Given the description of an element on the screen output the (x, y) to click on. 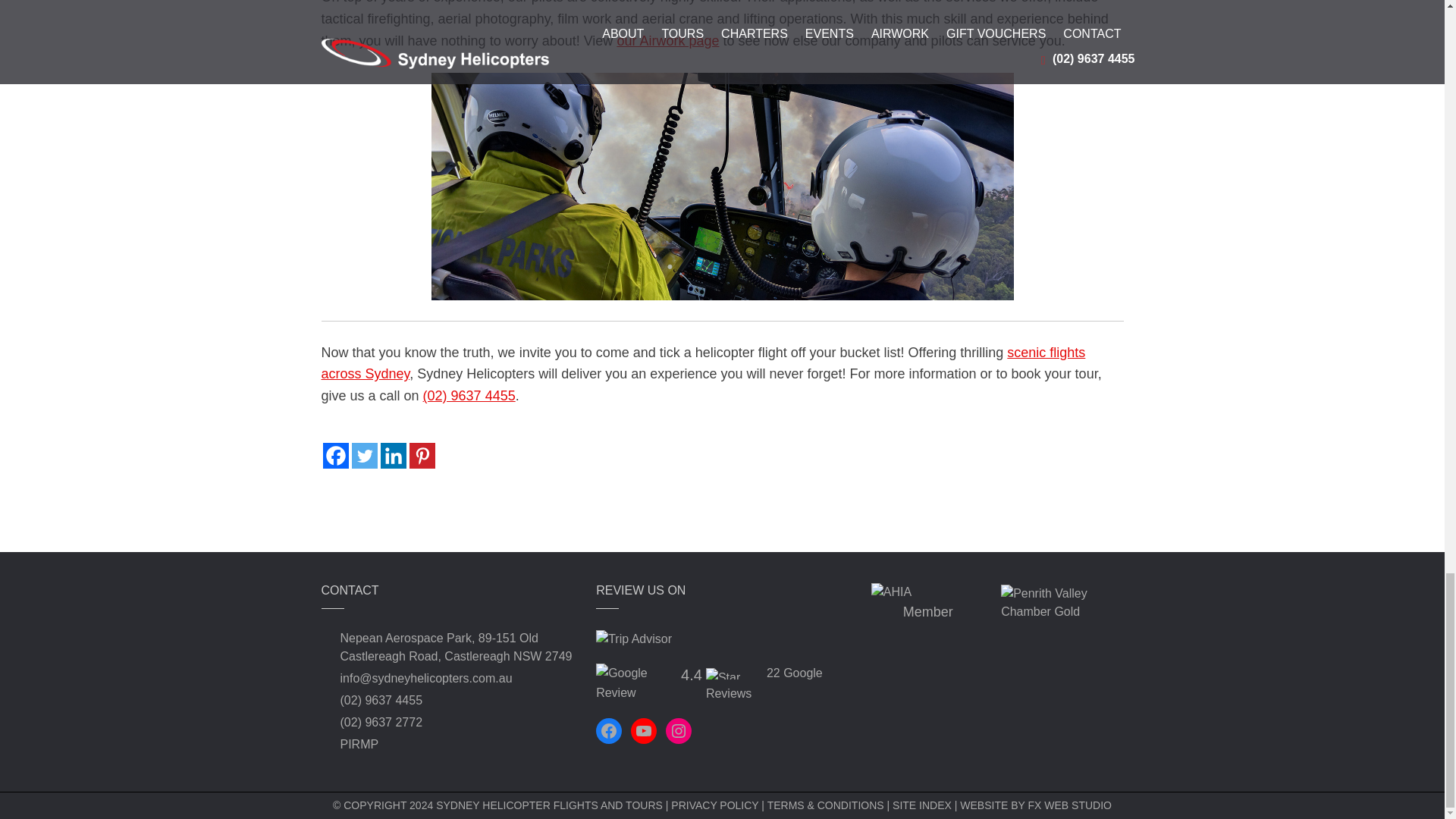
Google Review (636, 682)
Pinterest (422, 455)
Star Rating (734, 673)
Facebook (336, 455)
our Airwork page (667, 40)
scenic flights across Sydney (703, 363)
Trip Advisor (633, 638)
Twitter (364, 455)
Linkedin (393, 455)
